Given the description of an element on the screen output the (x, y) to click on. 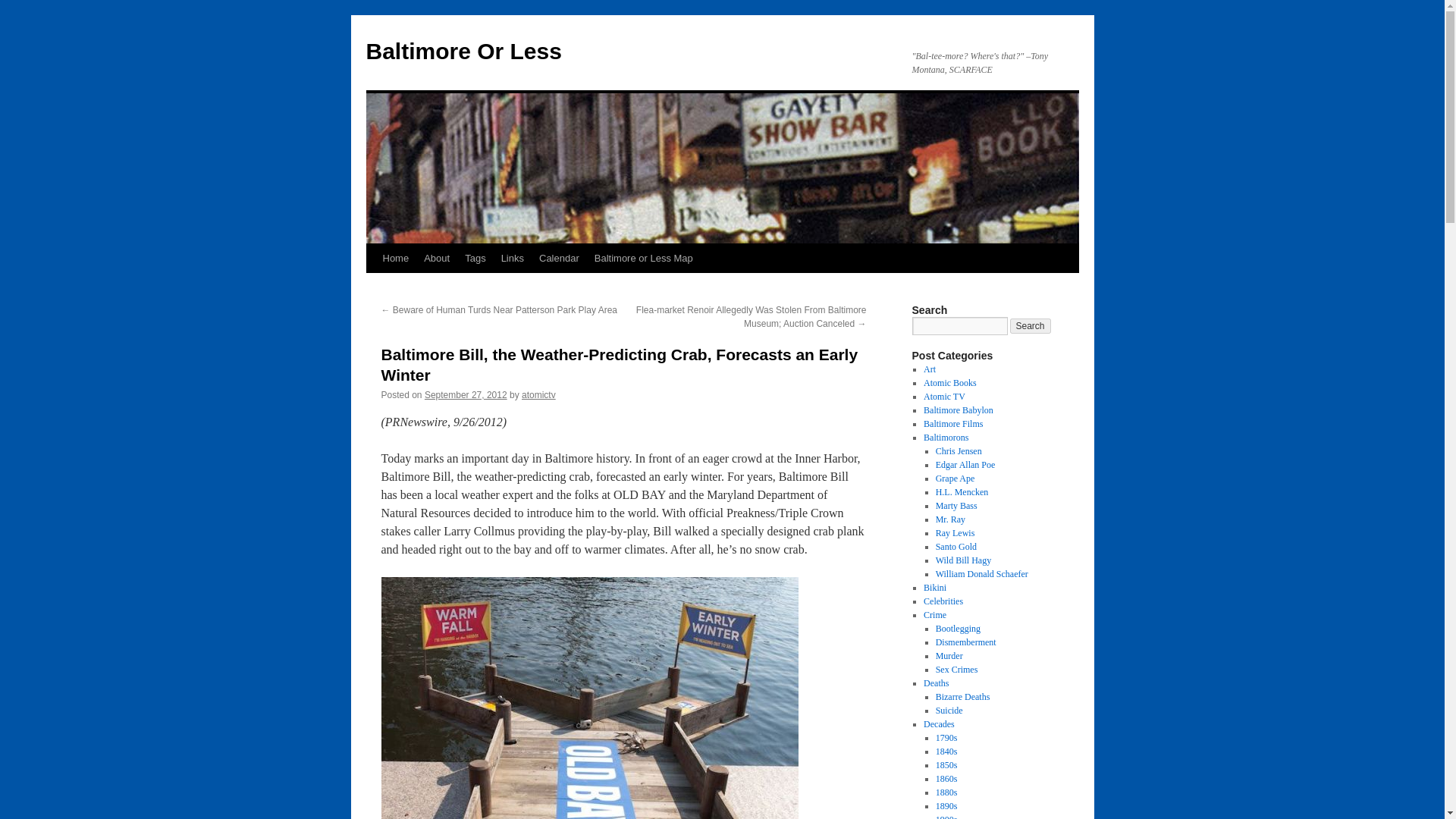
Edgar Allan Poe (965, 464)
11:47 am (465, 394)
Grape Ape (955, 478)
Baltimore Films (952, 423)
September 27, 2012 (465, 394)
Mr. Ray (950, 519)
balto-bill2 (588, 698)
Search (1030, 325)
Art (929, 368)
H.L. Mencken (962, 491)
Ray Lewis (955, 532)
Santo Gold (956, 546)
Tags (475, 258)
atomictv (538, 394)
Links (512, 258)
